Given the description of an element on the screen output the (x, y) to click on. 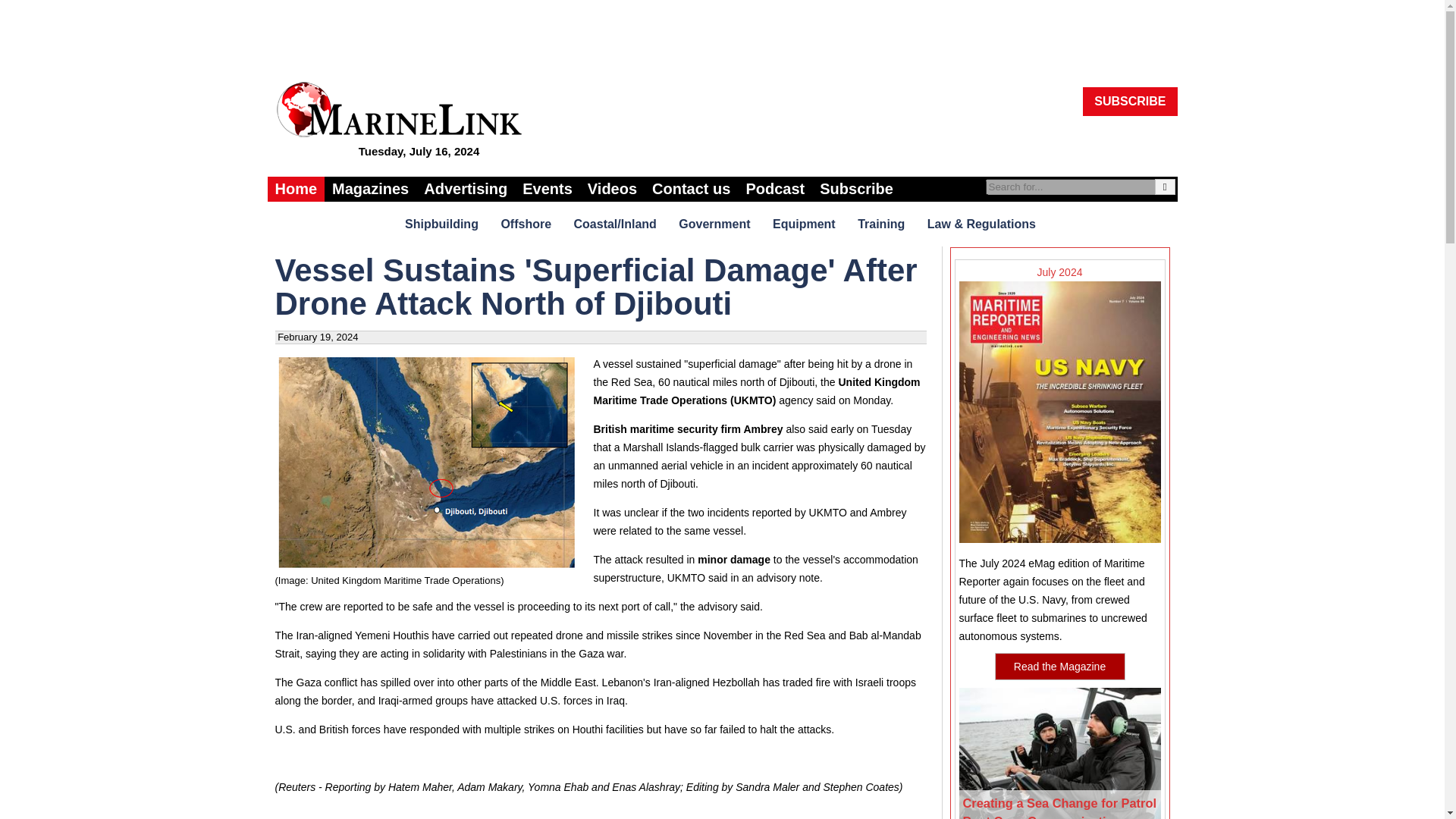
 Contacts (691, 188)
 Coastal and Inland News (616, 223)
Read the Magazine (1059, 665)
Events (547, 188)
Maritime Training News (882, 223)
July 2024 (1059, 408)
Podcast (775, 188)
Maritime Events (547, 188)
Casualties (390, 818)
Maritime Reporter TV (612, 188)
Equipment (806, 223)
Marine Equipment News (806, 223)
Maritime News, Maritime Magazine (295, 188)
 Maritime Reporter Magazine and Marine News Magazine (370, 188)
Government (716, 223)
